Given the description of an element on the screen output the (x, y) to click on. 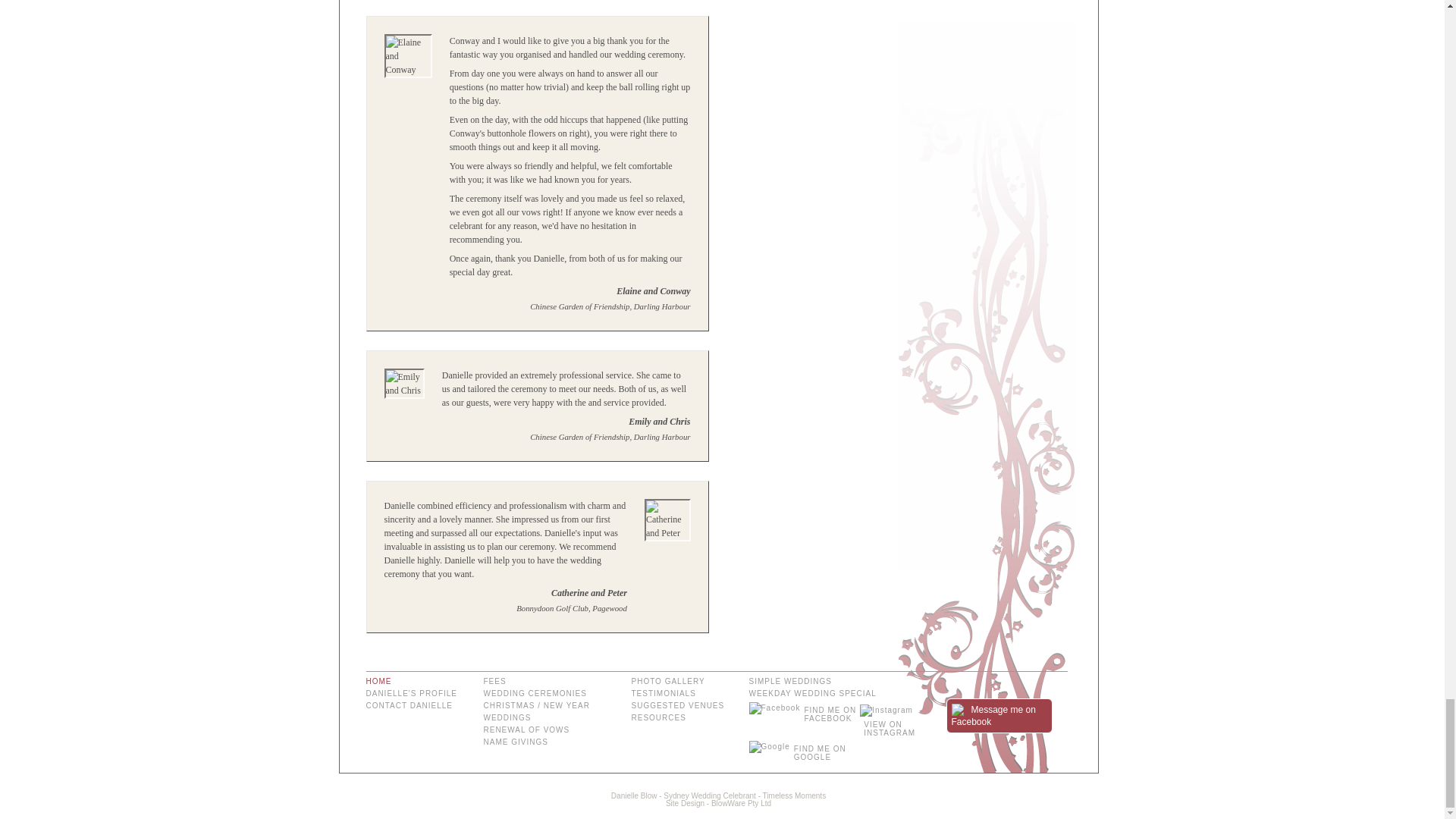
PHOTO GALLERY (683, 681)
WEEKDAY WEDDING SPECIAL (840, 693)
RESOURCES (683, 717)
Message me on Facebook (999, 722)
SIMPLE WEDDINGS (840, 681)
SUGGESTED VENUES (683, 705)
NAME GIVINGS (551, 742)
FEES (551, 681)
CONTACT DANIELLE (418, 705)
HOME (418, 681)
